Given the description of an element on the screen output the (x, y) to click on. 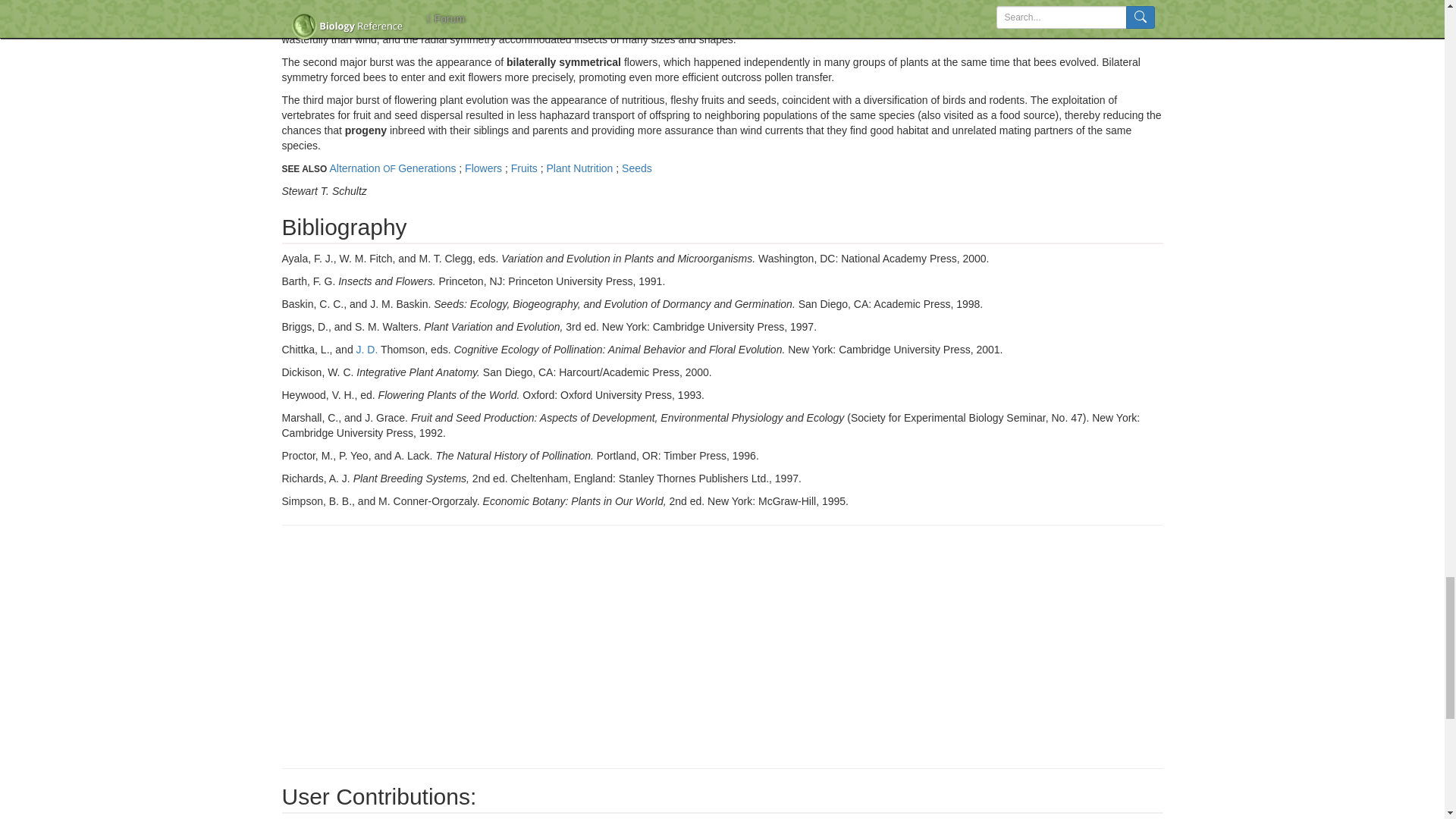
J. D. (367, 349)
Alternation OF Generations (393, 168)
Plant Nutrition (580, 168)
View 'j. d.' definition from Wikipedia (367, 349)
Seeds (636, 168)
Flowers (484, 168)
Fruits (525, 168)
